Given the description of an element on the screen output the (x, y) to click on. 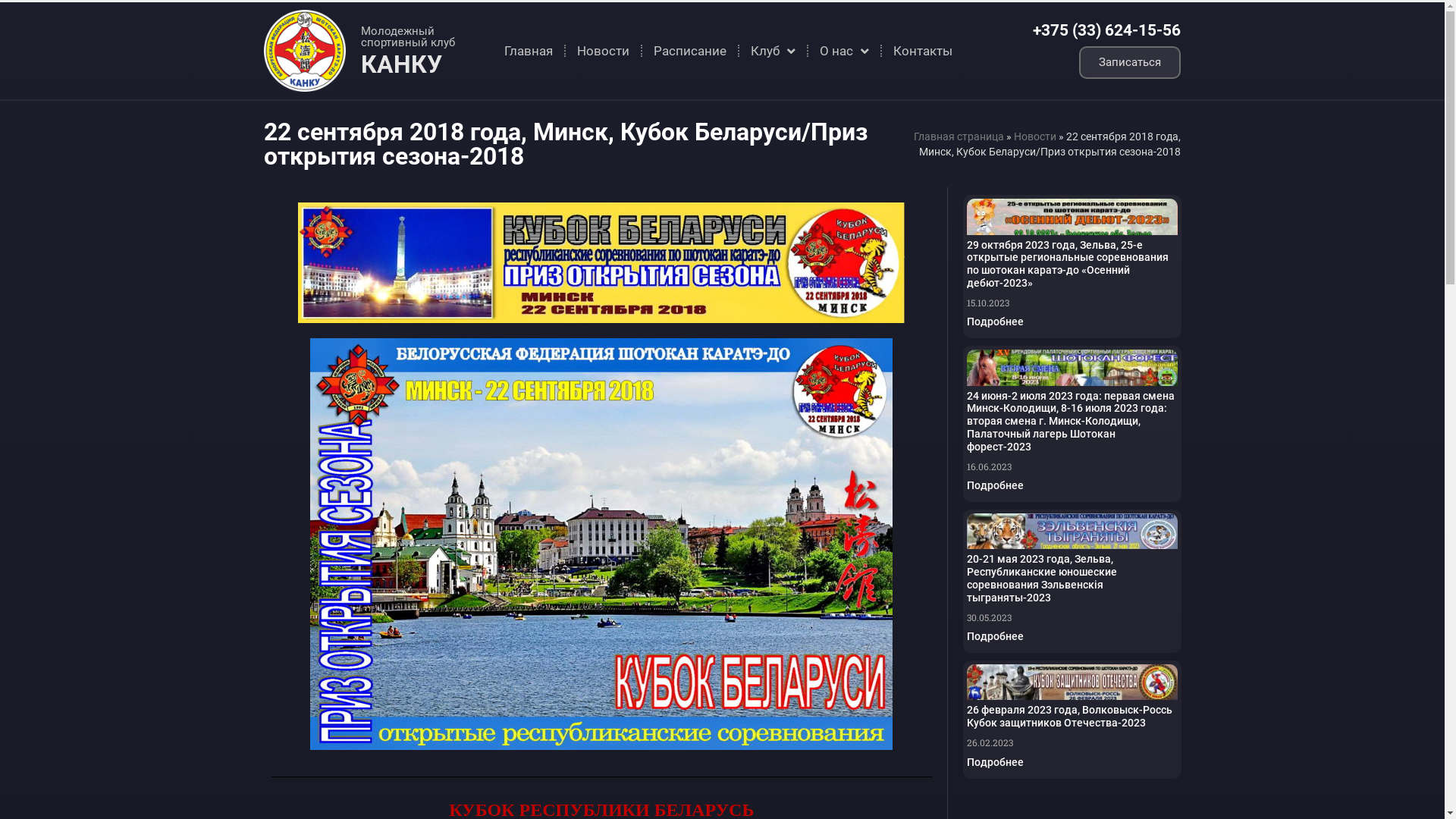
+375 (33) 624-15-56 Element type: text (1106, 30)
